Given the description of an element on the screen output the (x, y) to click on. 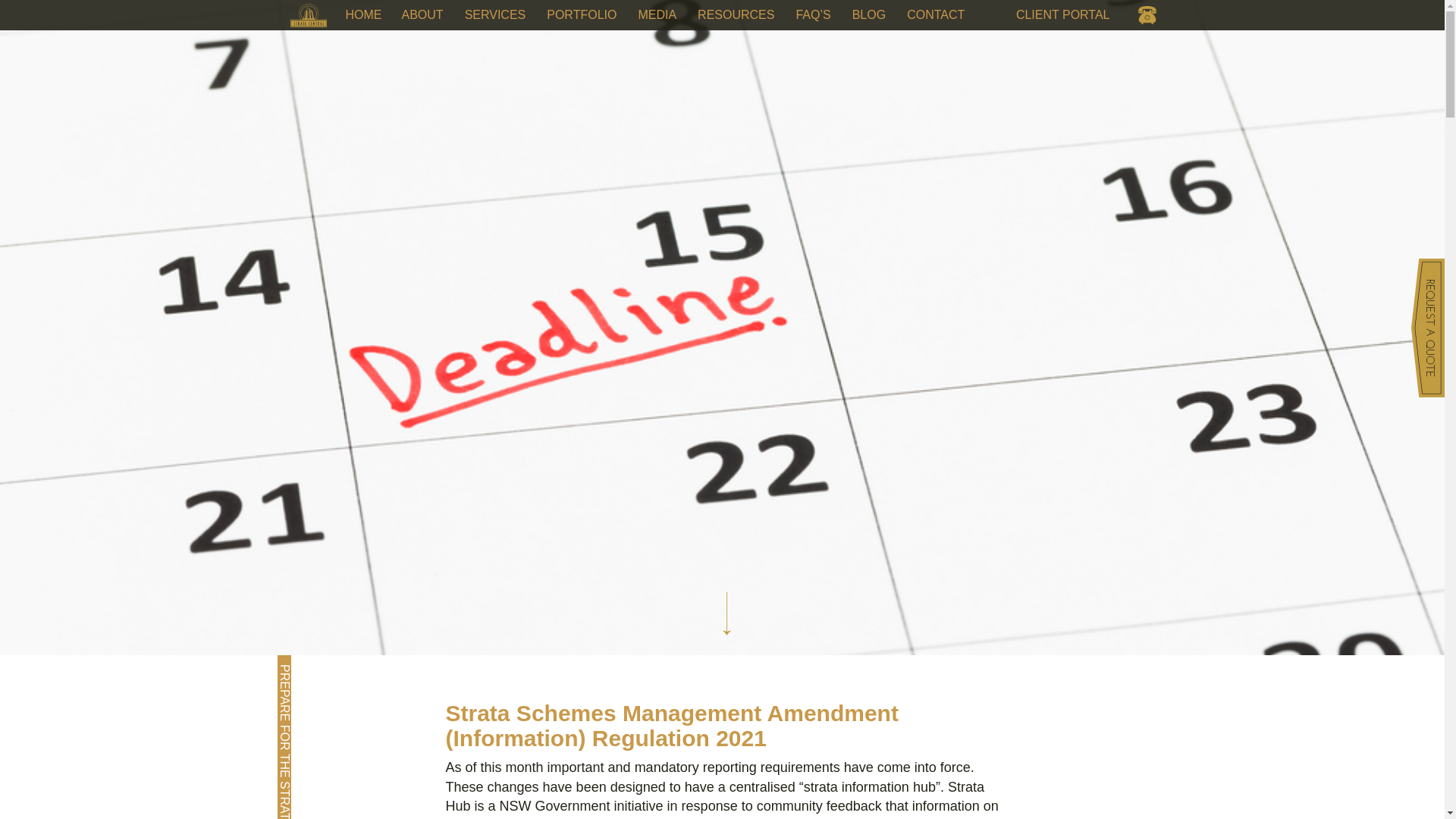
CONTACT (935, 15)
SERVICES (495, 15)
RESOURCES (735, 15)
HOME (364, 15)
BLOG (868, 15)
PORTFOLIO (581, 15)
MEDIA (657, 15)
CLIENT PORTAL (1067, 15)
ABOUT (422, 15)
